Given the description of an element on the screen output the (x, y) to click on. 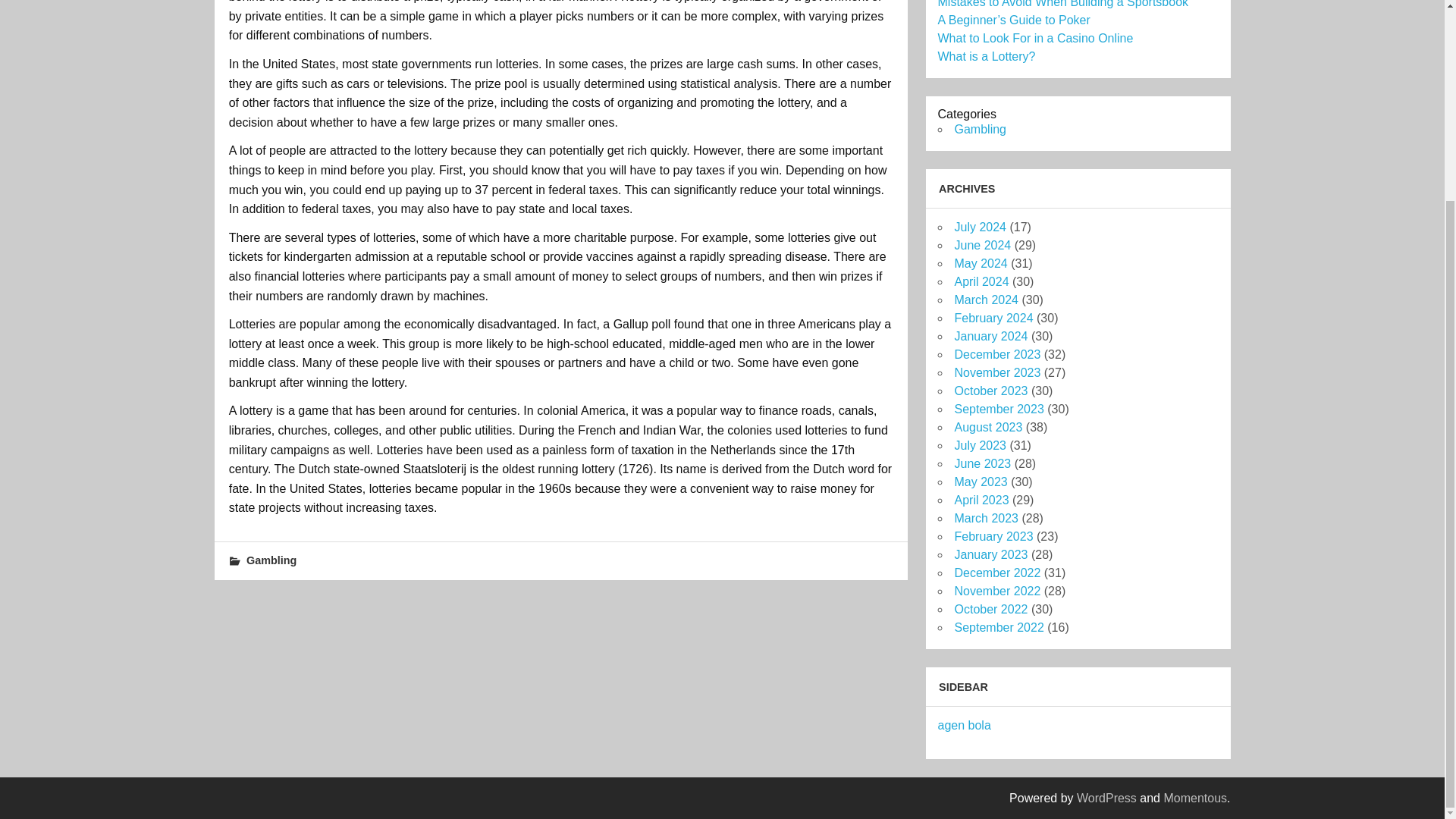
June 2024 (981, 245)
December 2022 (997, 572)
WordPress (1107, 797)
February 2023 (992, 535)
December 2023 (997, 354)
April 2024 (981, 281)
July 2024 (979, 226)
November 2023 (997, 372)
September 2022 (998, 626)
March 2024 (985, 299)
November 2022 (997, 590)
October 2023 (990, 390)
March 2023 (985, 517)
WordPress (1107, 797)
Gambling (271, 560)
